Given the description of an element on the screen output the (x, y) to click on. 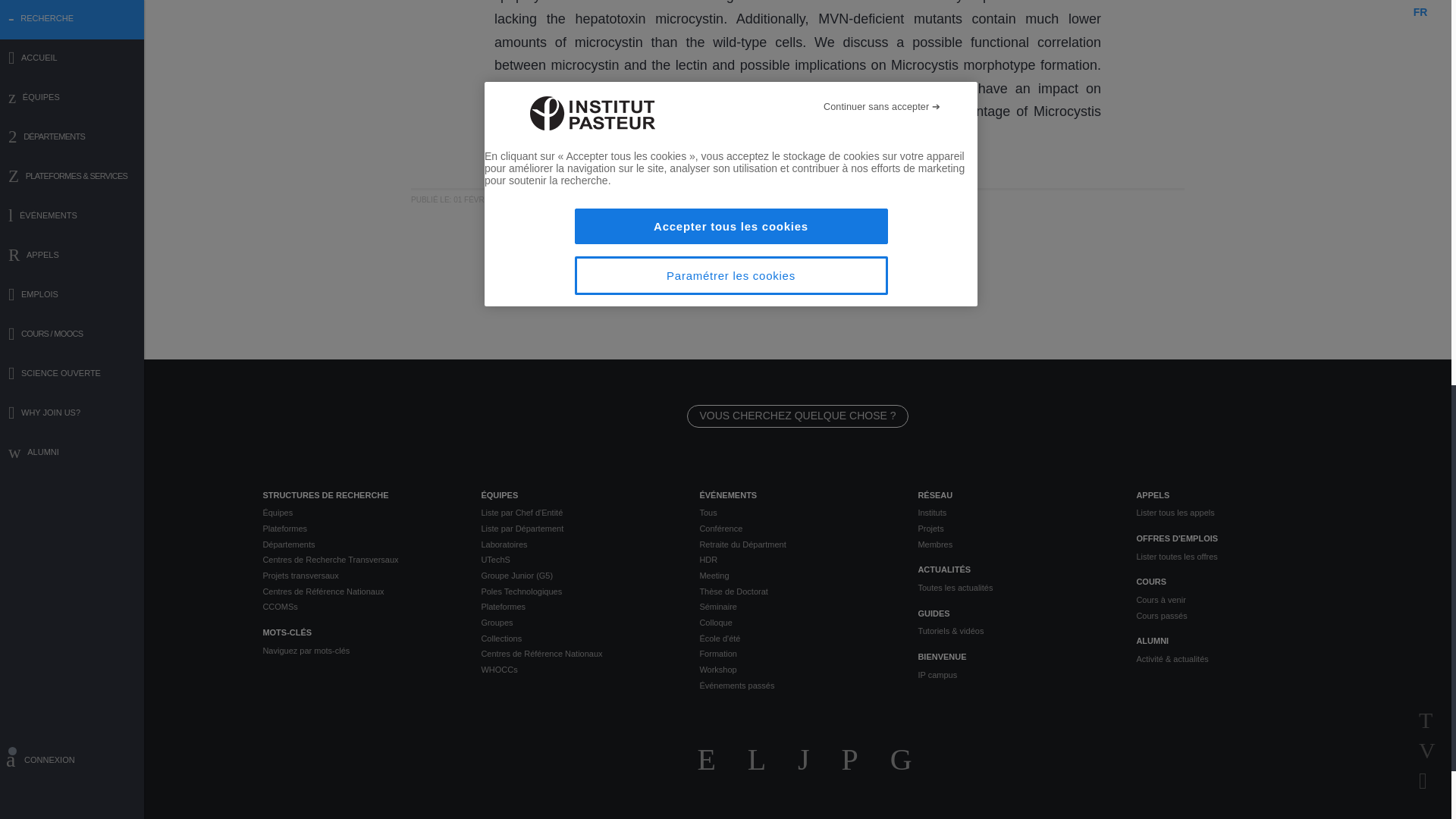
Plateformes (360, 528)
